Given the description of an element on the screen output the (x, y) to click on. 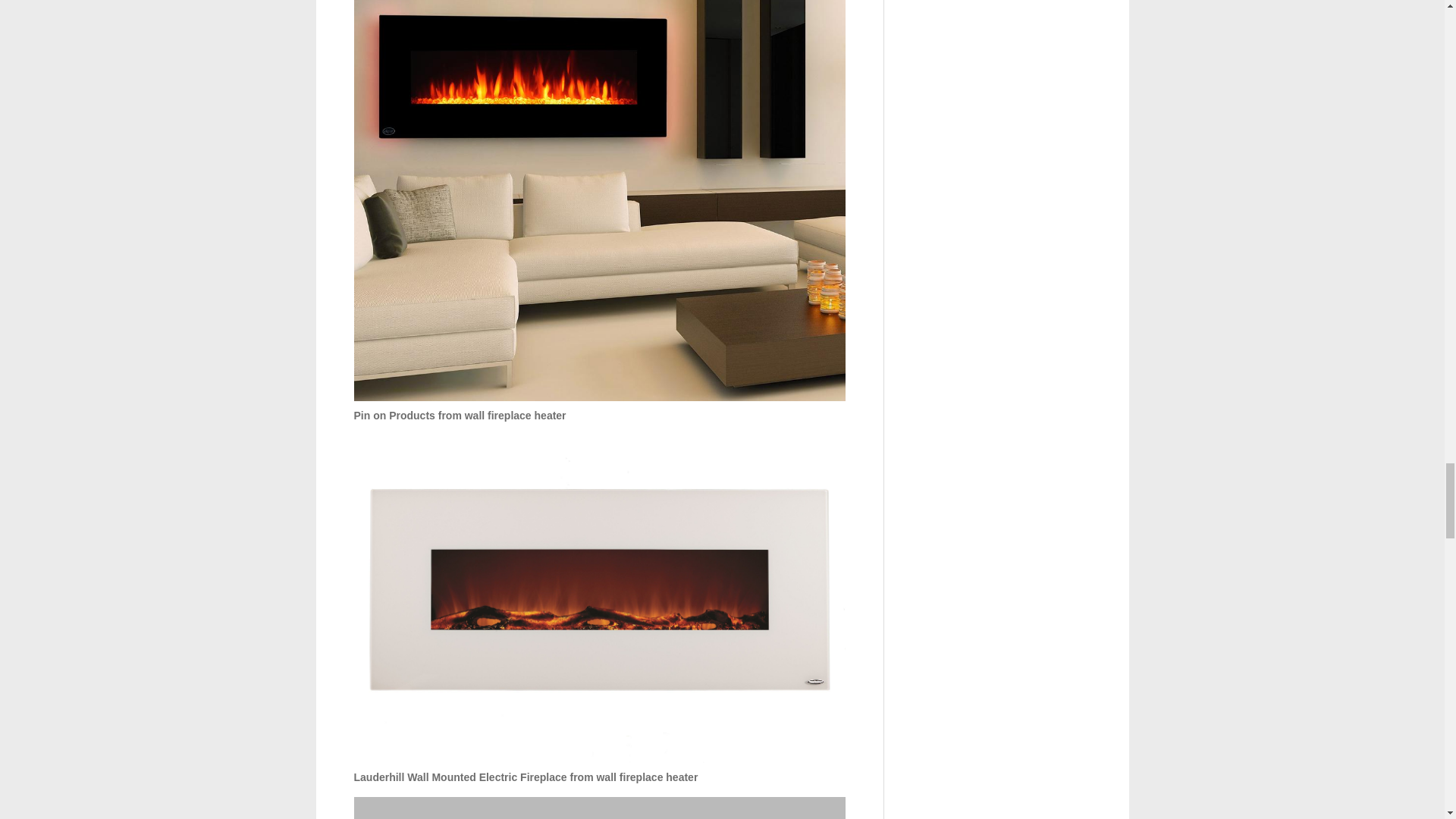
LED Backlit 36" Stainless Steel Wall Mount Heater Fireplace (598, 807)
